Given the description of an element on the screen output the (x, y) to click on. 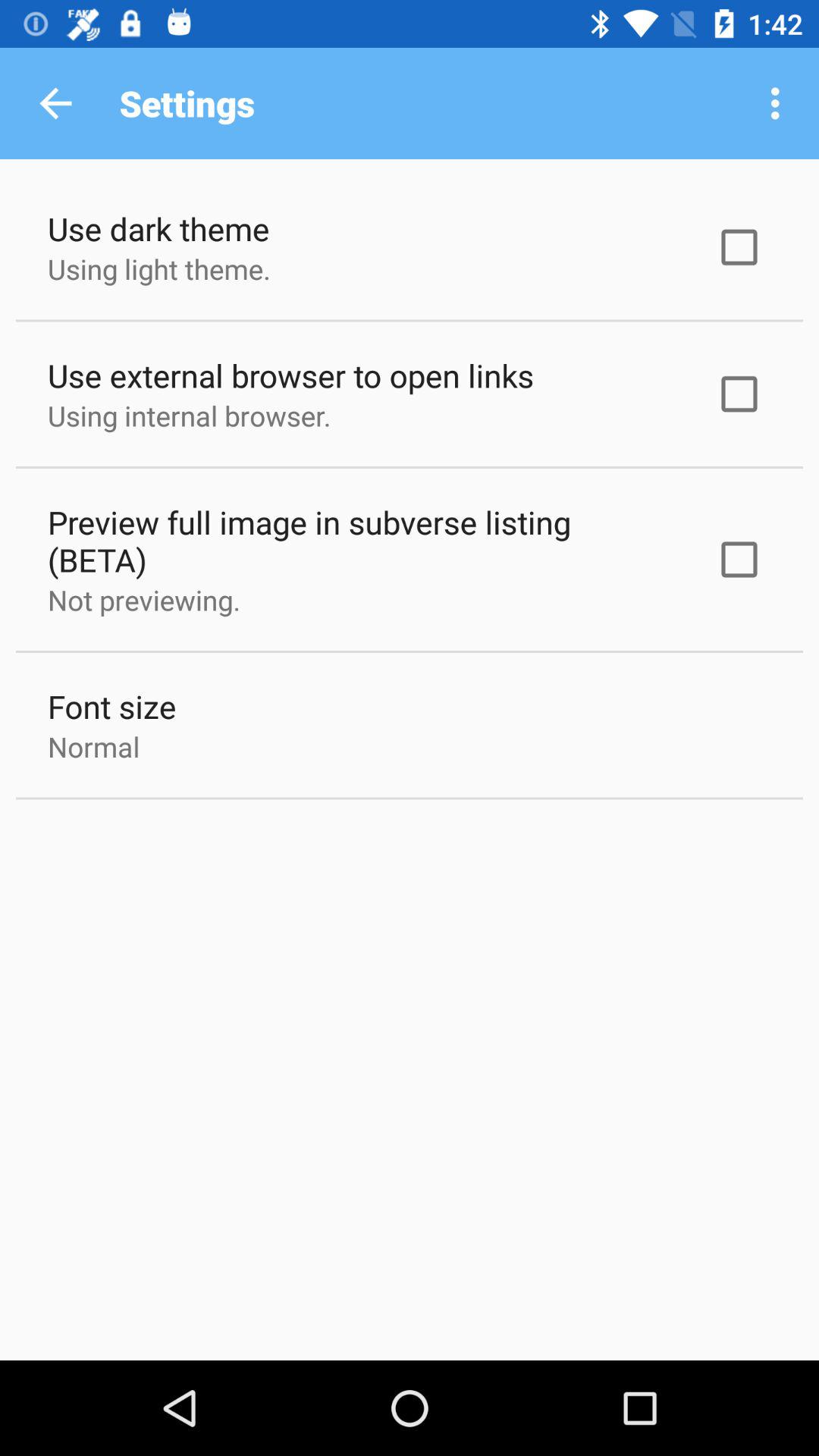
scroll to using internal browser. icon (189, 415)
